Given the description of an element on the screen output the (x, y) to click on. 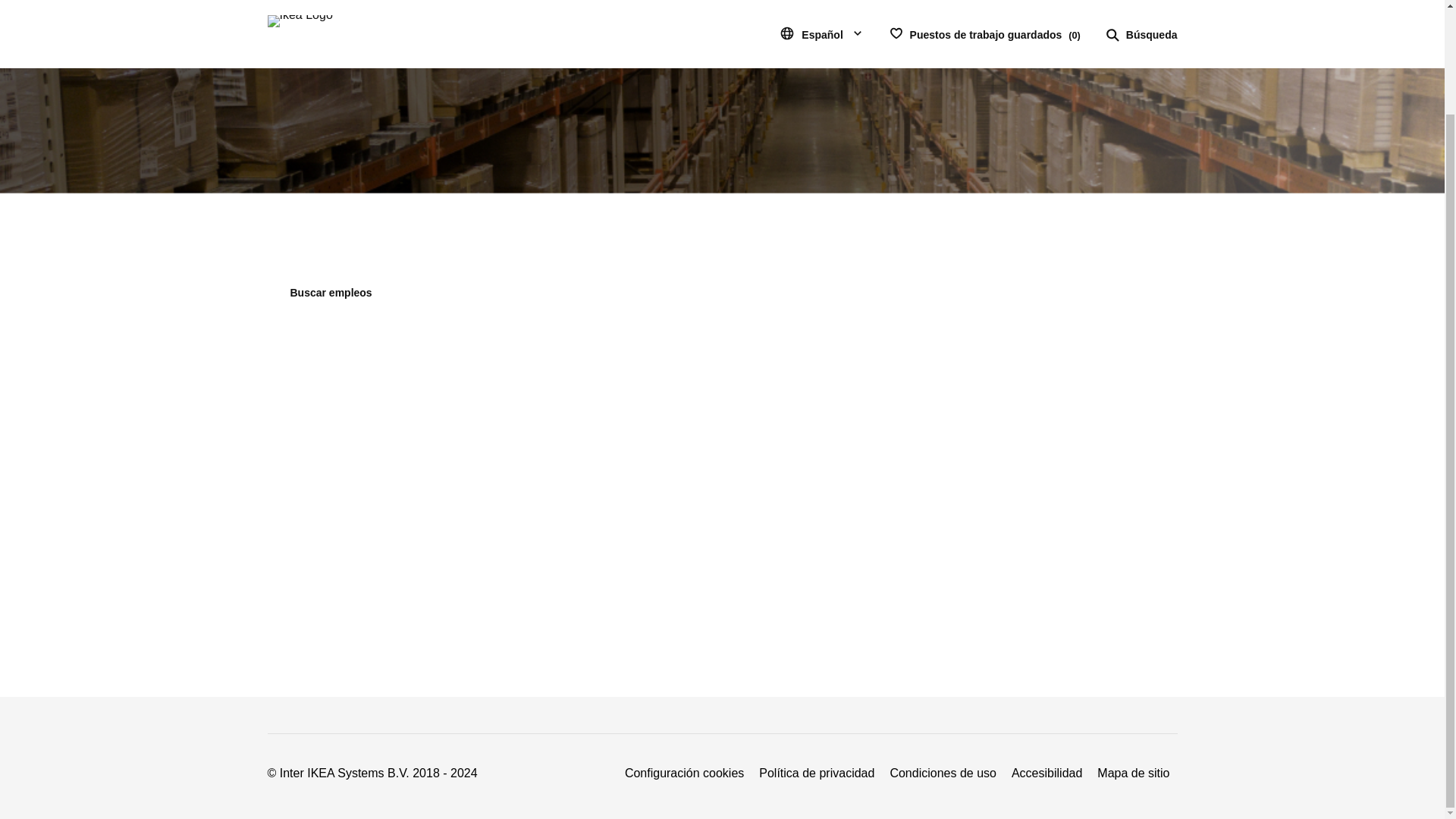
Buscar empleos (331, 292)
Condiciones de uso (943, 772)
Accesibilidad (1046, 772)
Mapa de sitio (1132, 772)
